Given the description of an element on the screen output the (x, y) to click on. 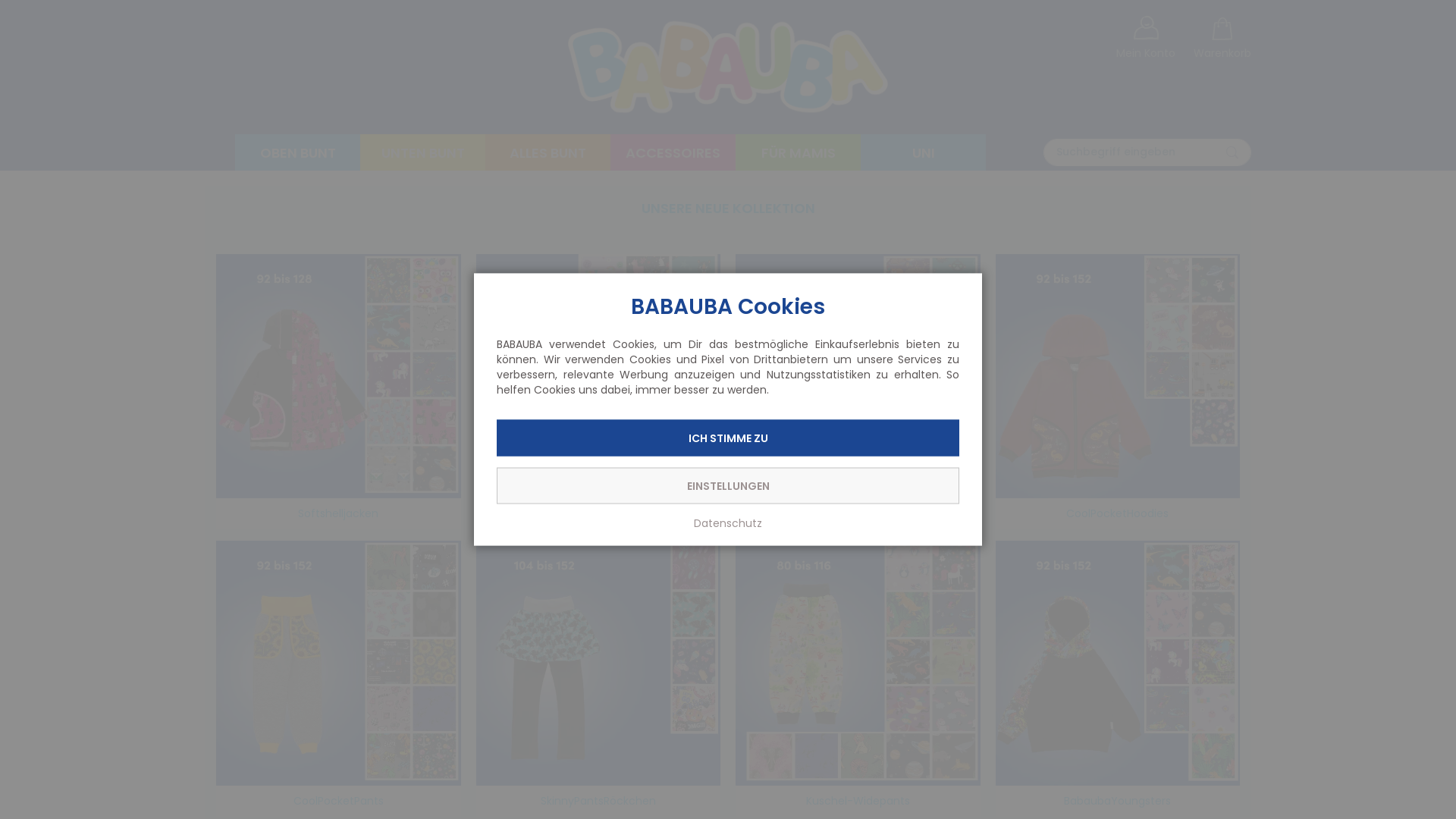
EINSTELLUNGEN Element type: text (727, 485)
CoolPocketPants Element type: hover (338, 662)
OBEN BUNT Element type: text (297, 153)
BabaubaYoungsters Element type: hover (1116, 662)
CoolPocketHoodies Element type: hover (1116, 375)
ICH STIMME ZU Element type: text (727, 438)
Mein Konto Element type: text (1145, 34)
UNTEN BUNT Element type: text (422, 153)
Warenkorb Element type: text (1222, 38)
Langarmbodies Element type: hover (857, 375)
Softshelljacken Element type: hover (338, 375)
Kuschel-Widepants Element type: hover (857, 662)
Search Element type: text (1231, 152)
UNSERE NEUE KOLLEKTION Element type: text (728, 207)
Latzhosen Element type: hover (598, 375)
Babauba - trag's bunt, Baby! Element type: hover (727, 66)
Datenschutz Element type: text (727, 522)
ALLES BUNT Element type: text (547, 153)
UNI Element type: text (922, 153)
ACCESSOIRES Element type: text (672, 153)
